Given the description of an element on the screen output the (x, y) to click on. 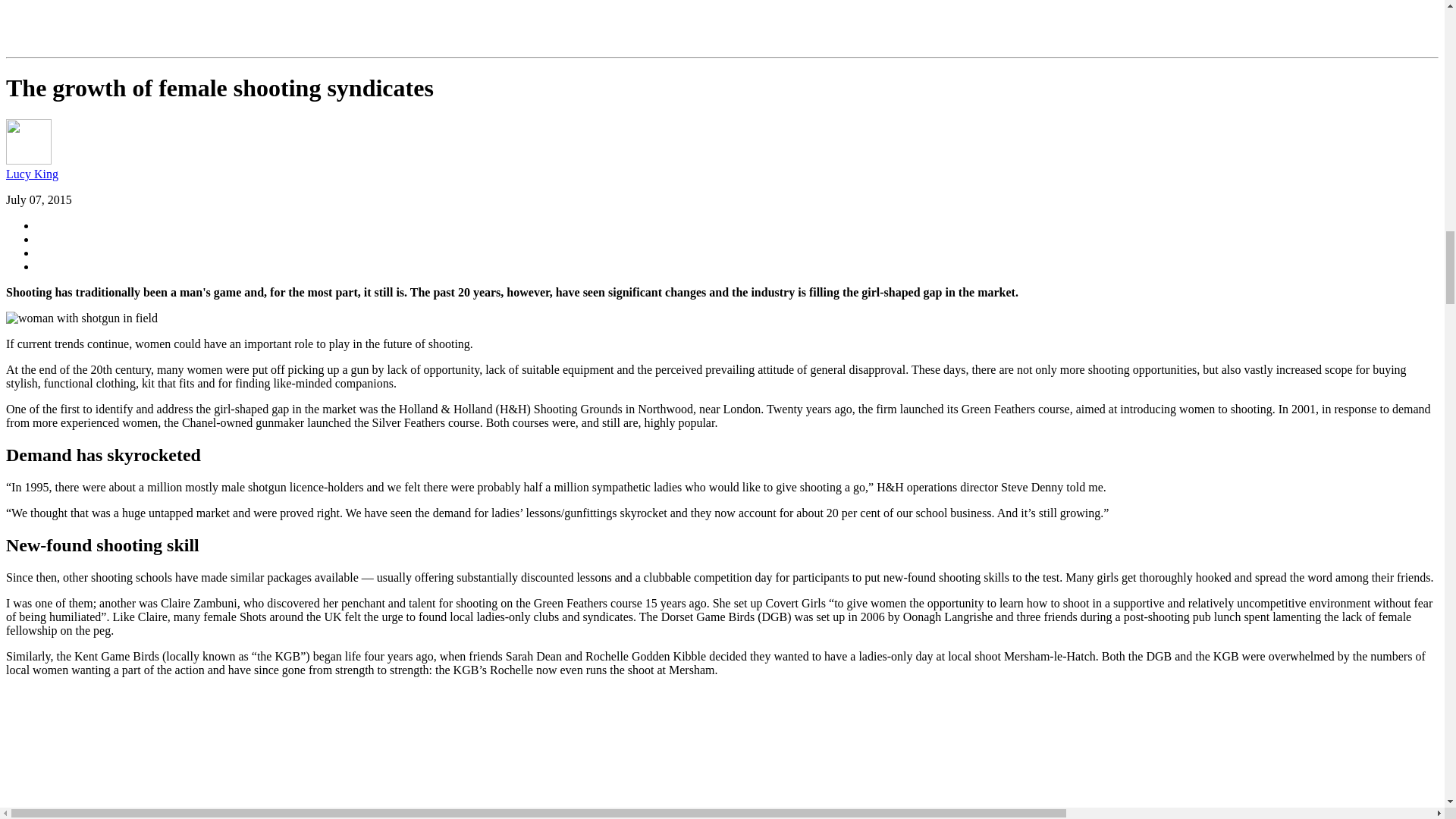
Chelsea Bun Club women go pheasant shooting (195, 753)
